Given the description of an element on the screen output the (x, y) to click on. 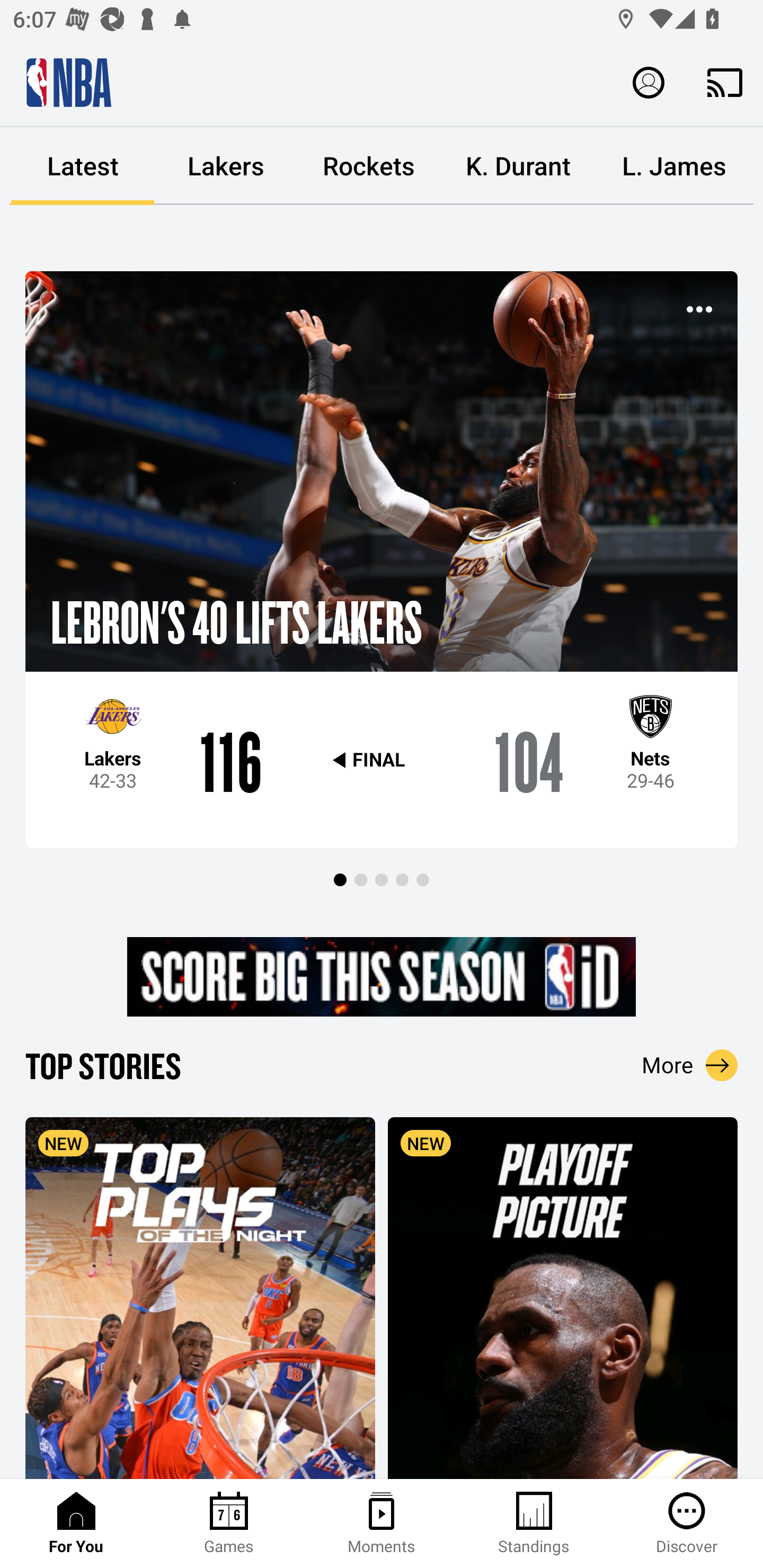
Cast. Disconnected (724, 82)
Profile (648, 81)
Lakers (225, 166)
Rockets (368, 166)
K. Durant (518, 166)
L. James (673, 166)
TOP STORIES More NEW NEW (381, 1260)
More (689, 1064)
NEW (200, 1297)
NEW (562, 1297)
Games (228, 1523)
Moments (381, 1523)
Standings (533, 1523)
Discover (686, 1523)
